Given the description of an element on the screen output the (x, y) to click on. 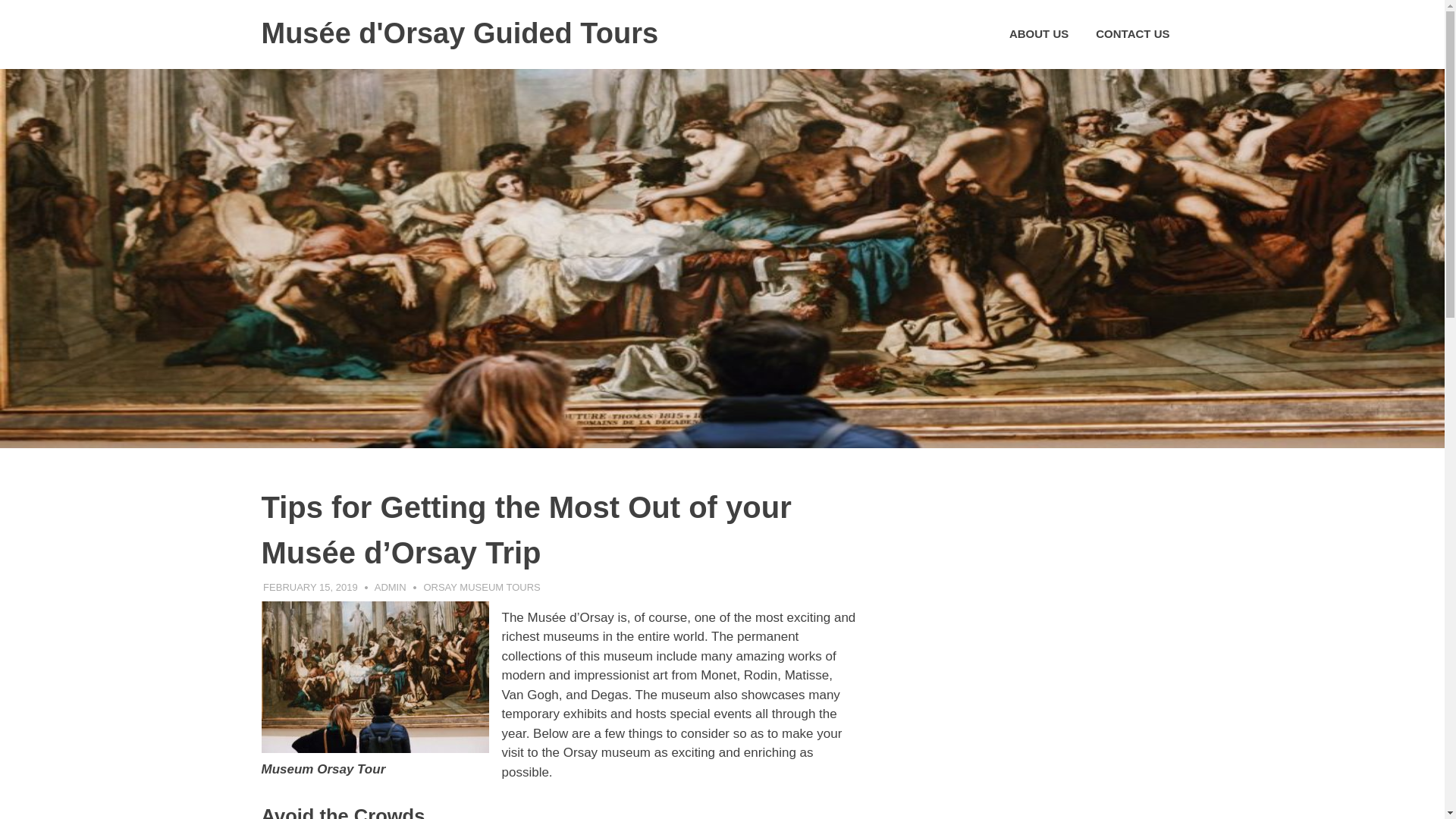
CONTACT US (1131, 34)
FEBRUARY 15, 2019 (310, 586)
ADMIN (390, 586)
ORSAY MUSEUM TOURS (481, 586)
ABOUT US (1038, 34)
View all posts by admin (390, 586)
11:47 am (310, 586)
